Given the description of an element on the screen output the (x, y) to click on. 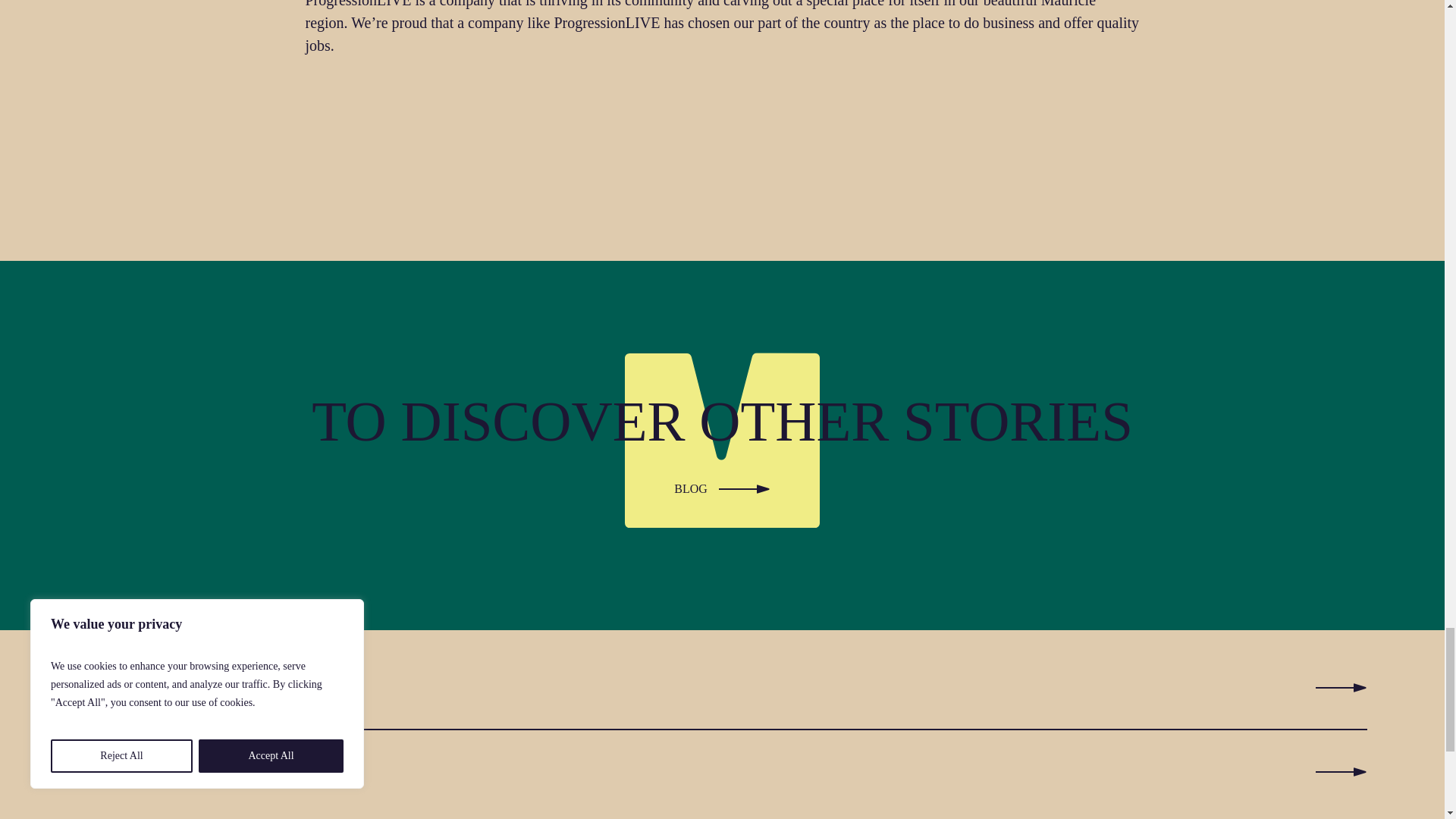
Immigrate to Mauricie (722, 771)
Visit Mauricie (722, 687)
BLOG (722, 485)
